Given the description of an element on the screen output the (x, y) to click on. 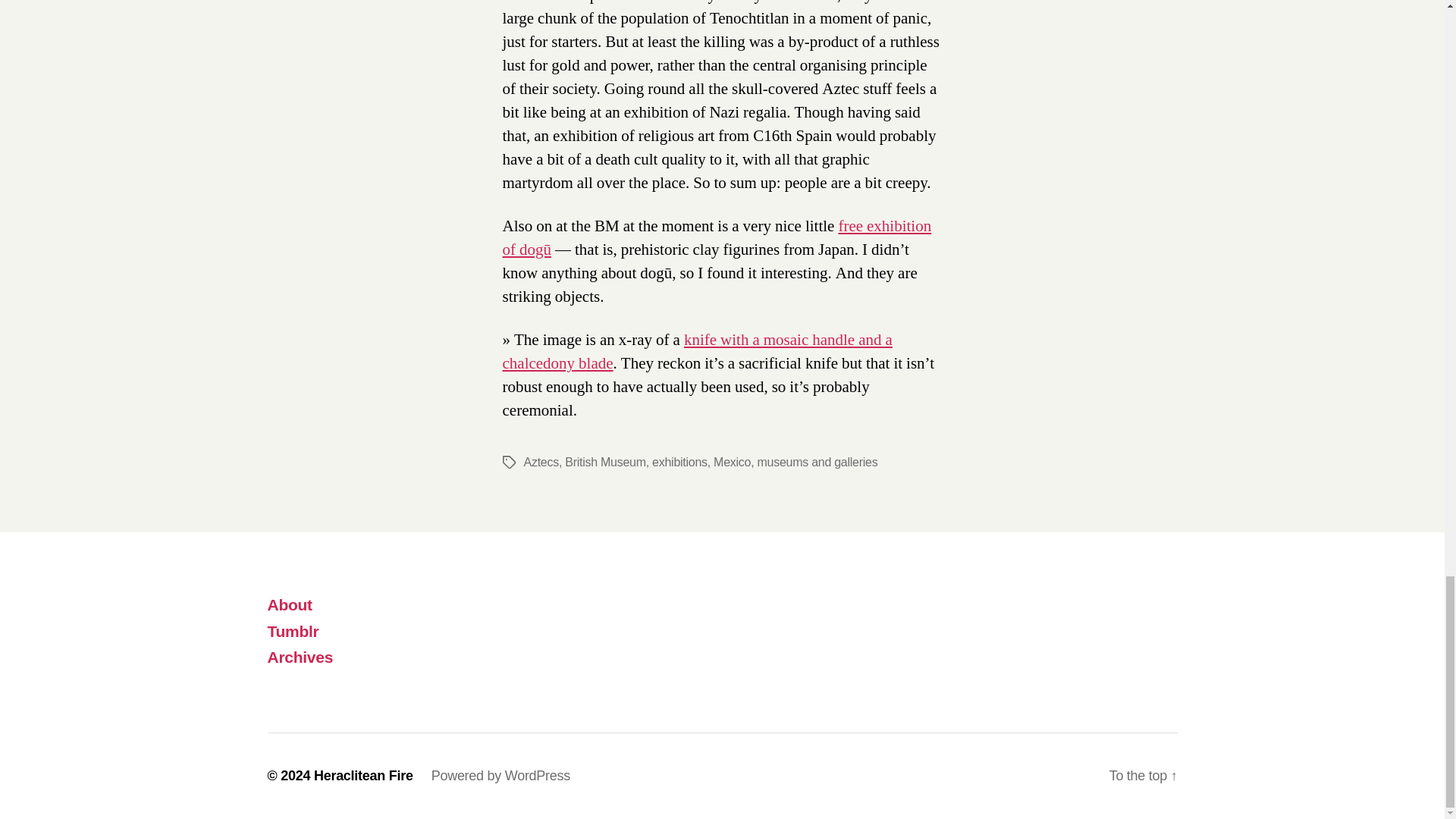
Heraclitean Fire (363, 775)
knife with a mosaic handle and a chalcedony blade (696, 351)
Tumblr (292, 630)
British Museum (604, 461)
Aztecs (539, 461)
Mexico (732, 461)
exhibitions (679, 461)
Powered by WordPress (500, 775)
About (288, 604)
museums and galleries (817, 461)
